Given the description of an element on the screen output the (x, y) to click on. 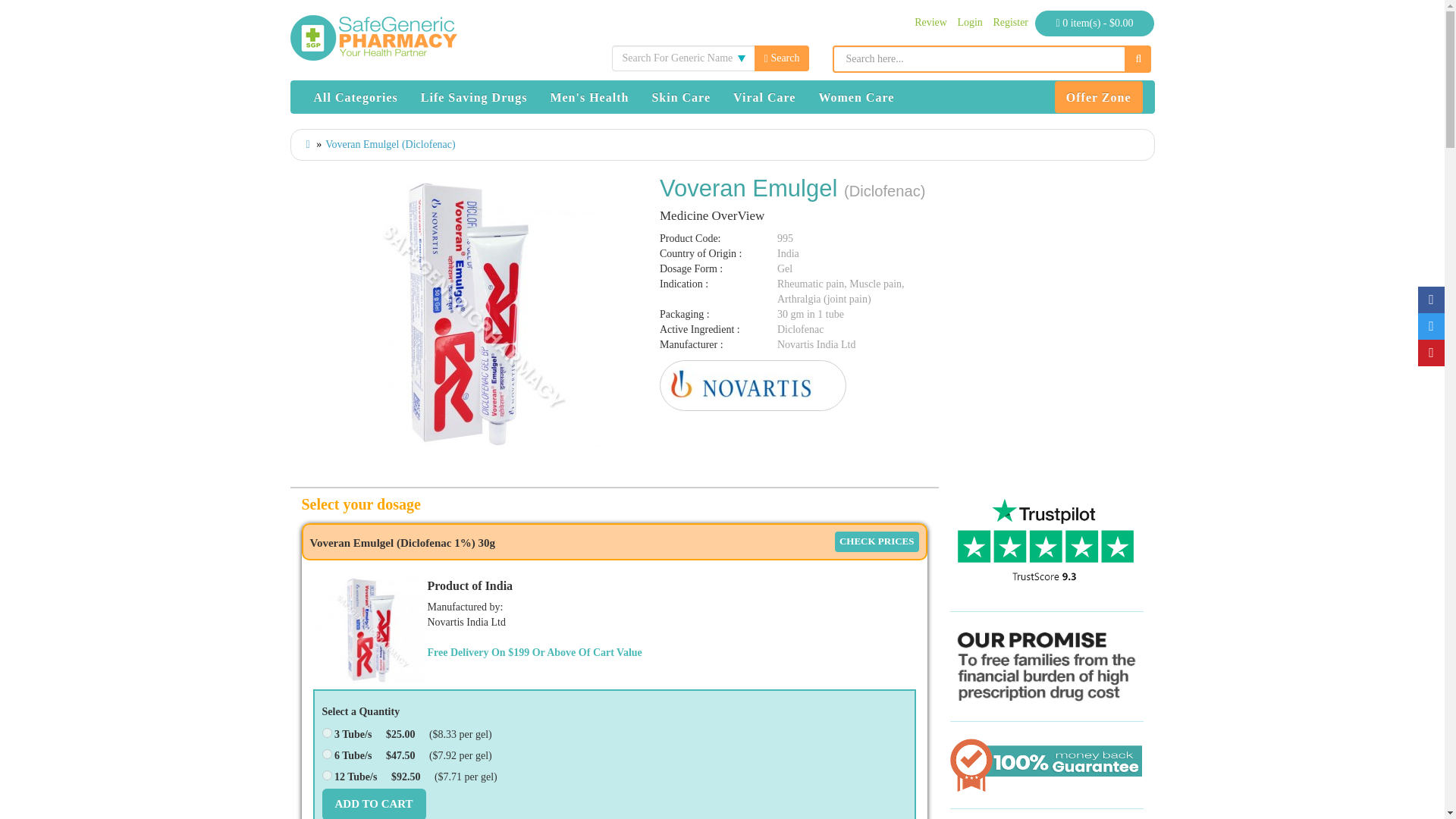
Voveran Emulgel 30g (371, 630)
Search For Generic Name (682, 58)
Login (968, 21)
Safe Generic Pharmacy (373, 37)
Review (930, 21)
10356 (326, 775)
2908 (682, 58)
Register (326, 754)
2907 (1009, 21)
